Given the description of an element on the screen output the (x, y) to click on. 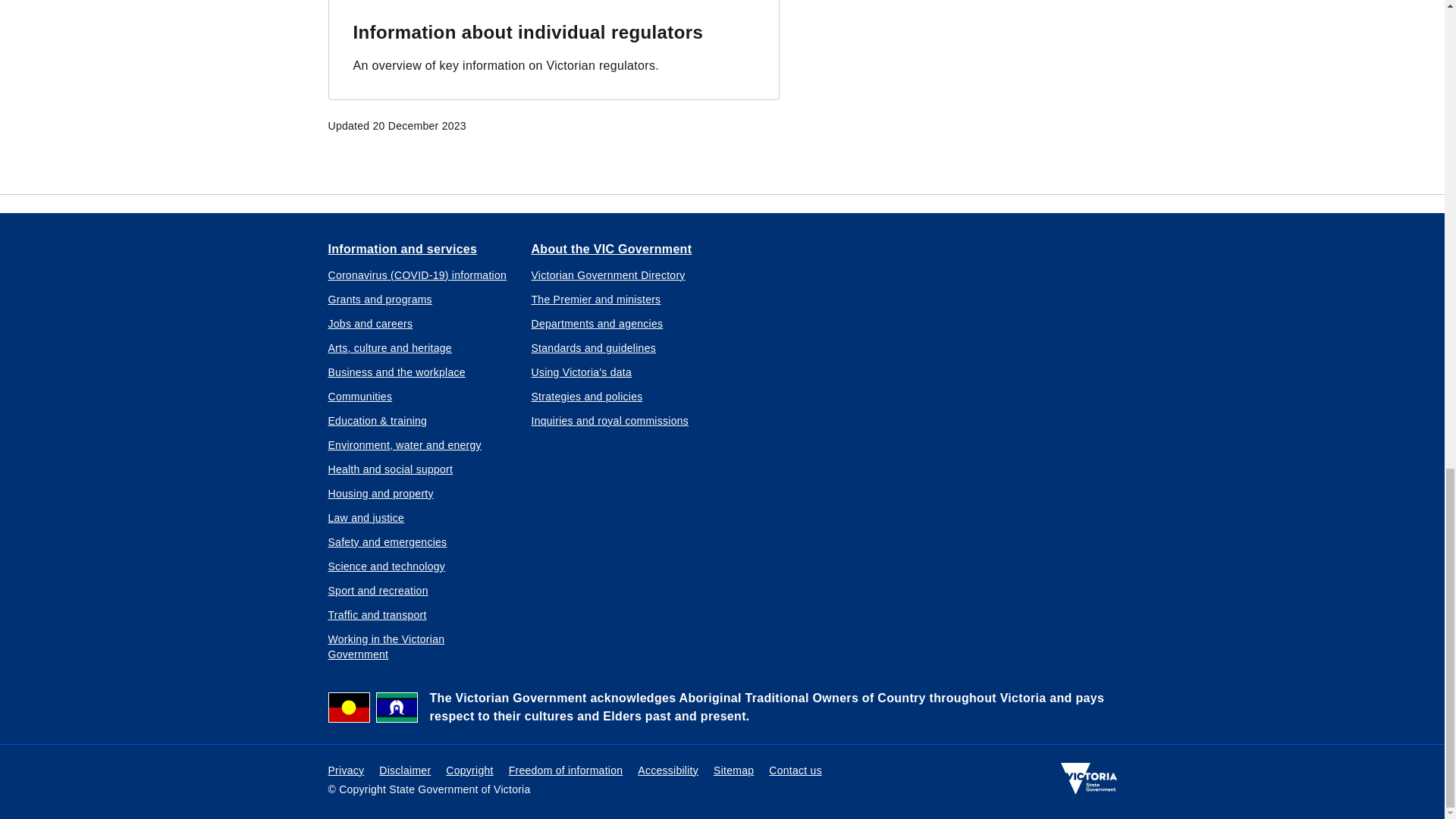
Information and services (402, 248)
Traffic and transport (376, 613)
Housing and property (379, 492)
Safety and emergencies (386, 540)
Environment, water and energy (403, 444)
Grants and programs (378, 298)
Information about individual regulators (528, 31)
Arts, culture and heritage (389, 346)
Communities (359, 395)
The Premier and ministers (596, 298)
